Given the description of an element on the screen output the (x, y) to click on. 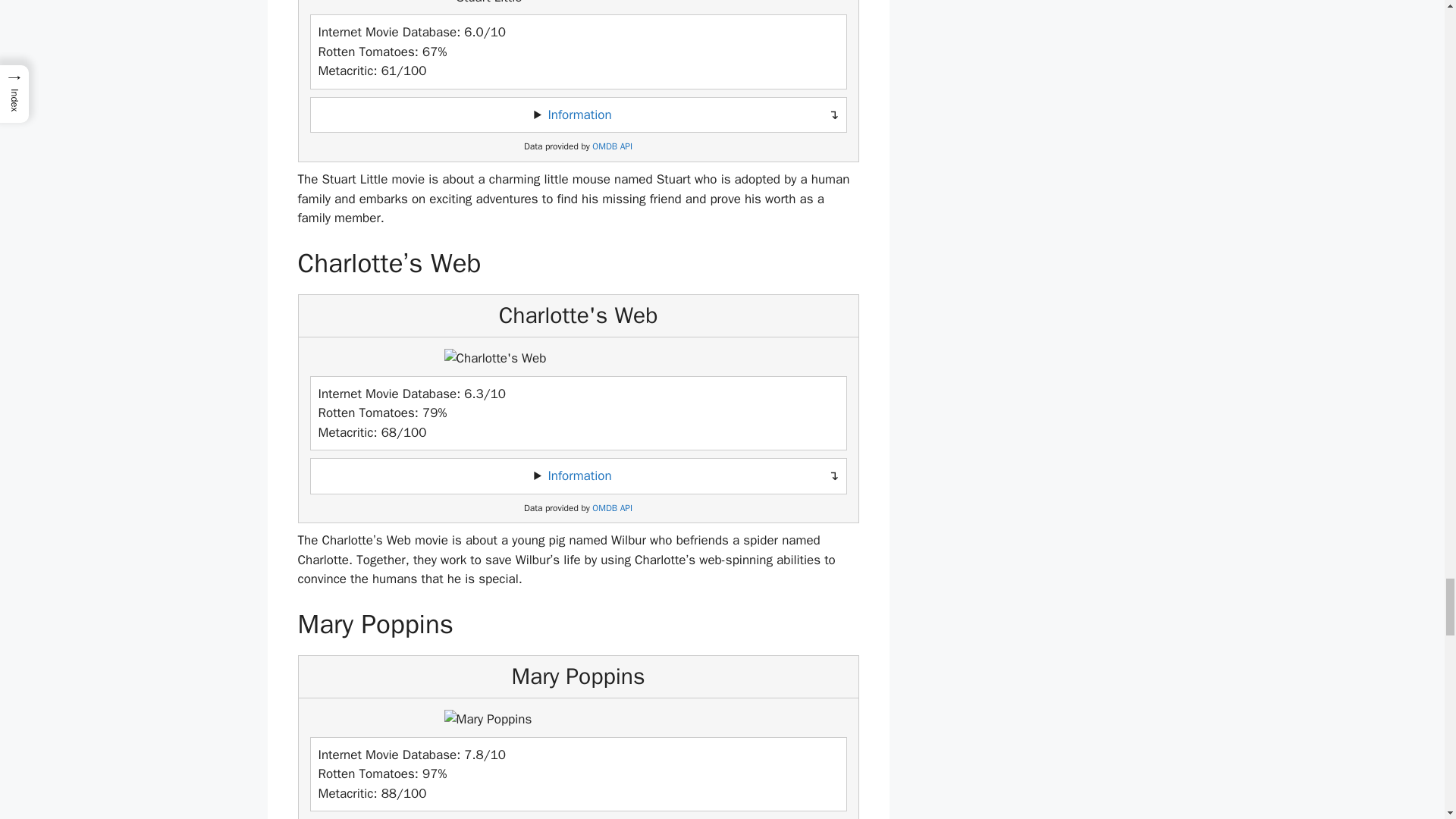
Information (579, 114)
Information (579, 475)
OMDB API (611, 508)
OMDB API (611, 146)
